Given the description of an element on the screen output the (x, y) to click on. 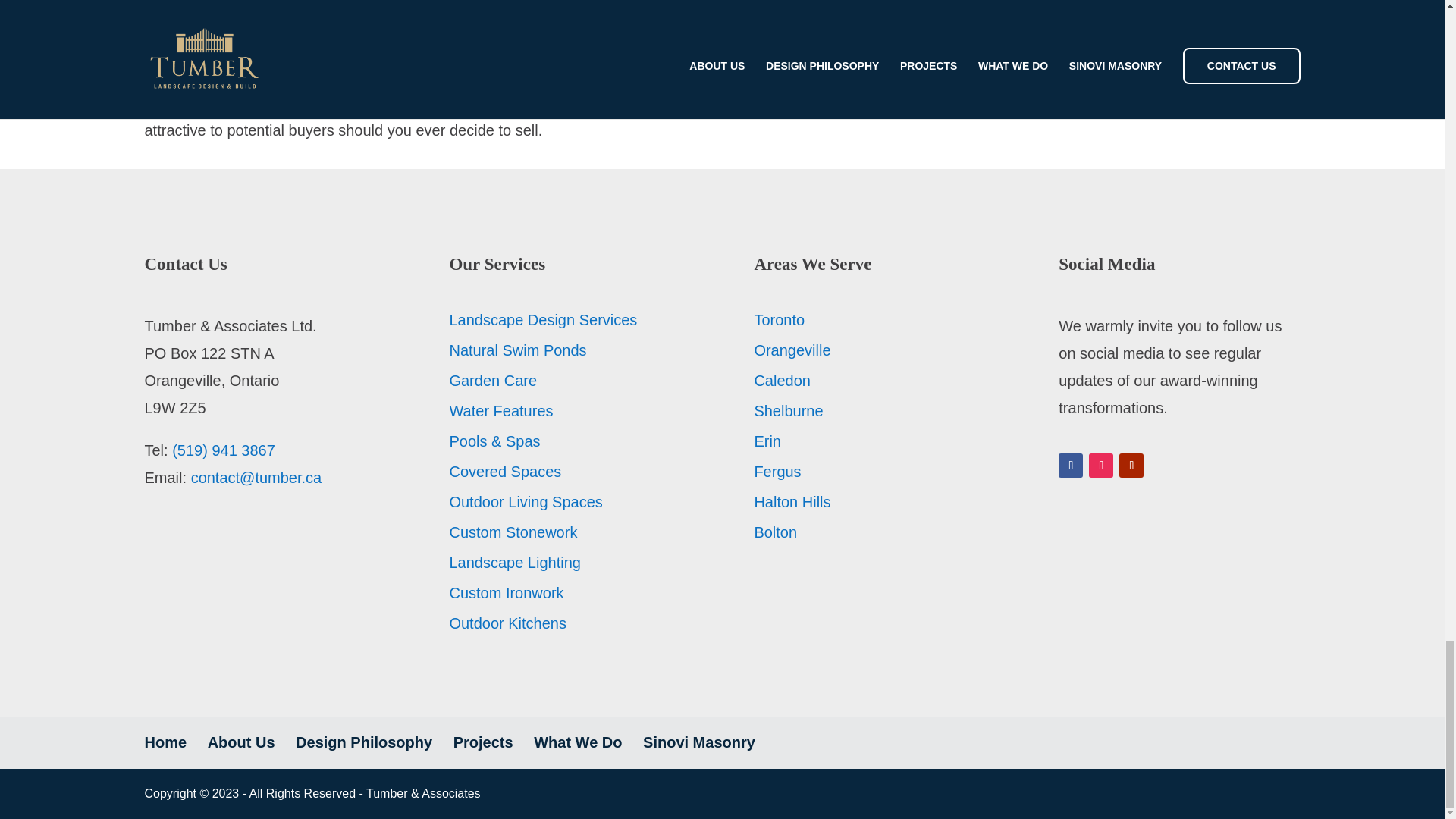
Follow on Youtube (1130, 465)
Follow on Instagram (1101, 465)
Follow on Facebook (1070, 465)
